Given the description of an element on the screen output the (x, y) to click on. 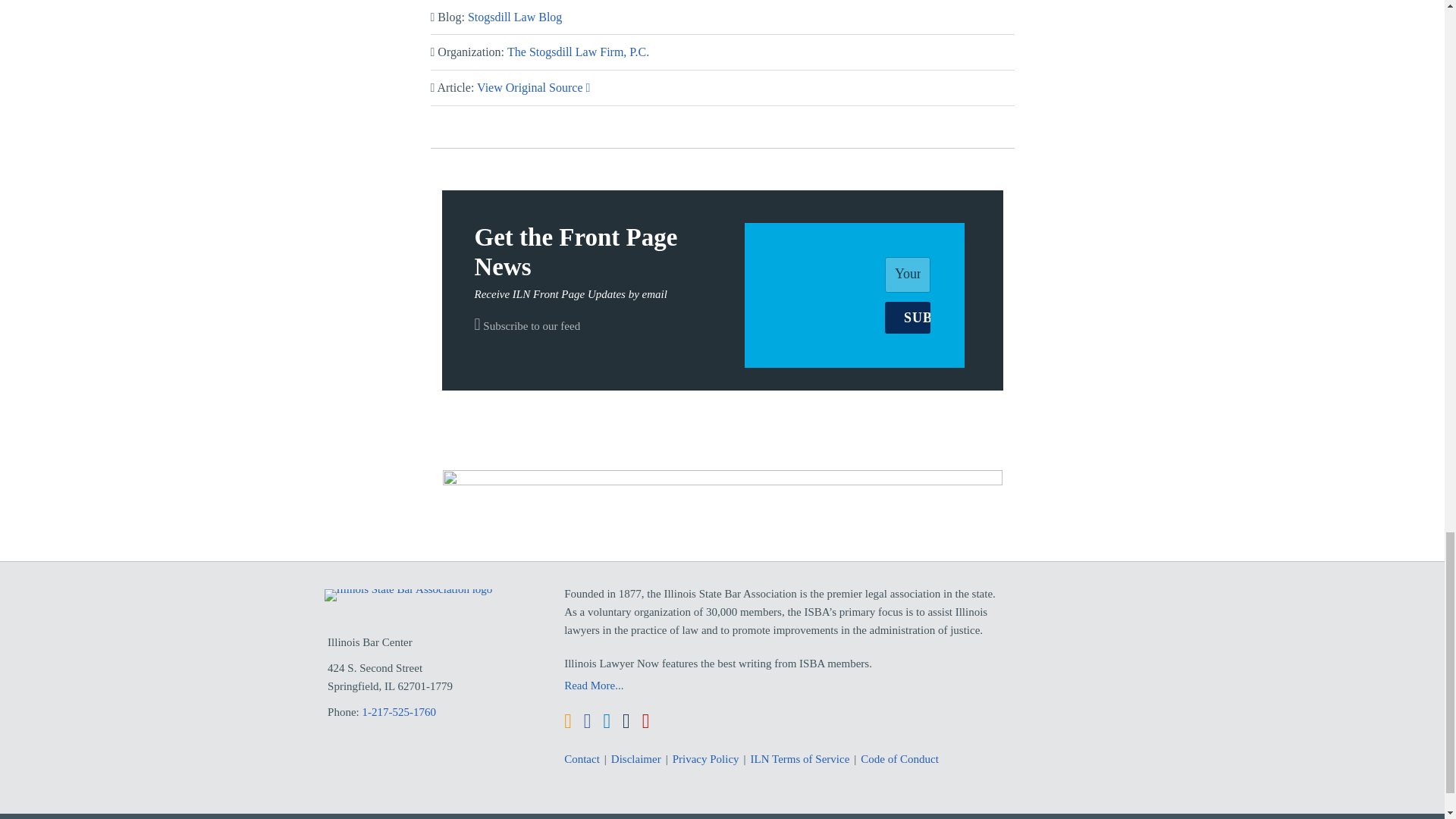
Contact (581, 759)
Disclaimer (636, 759)
RSS (568, 721)
Twitter (626, 721)
Subscribe to our feed (527, 326)
The Stogsdill Law Firm, P.C. (577, 51)
Privacy Policy (705, 759)
1-217-525-1760 (399, 711)
YouTube (645, 721)
Facebook (587, 721)
ILN Terms of Service (800, 759)
SUBSCRIBE (907, 317)
Read More... (786, 685)
SUBSCRIBE (907, 317)
View Original Source (533, 87)
